Given the description of an element on the screen output the (x, y) to click on. 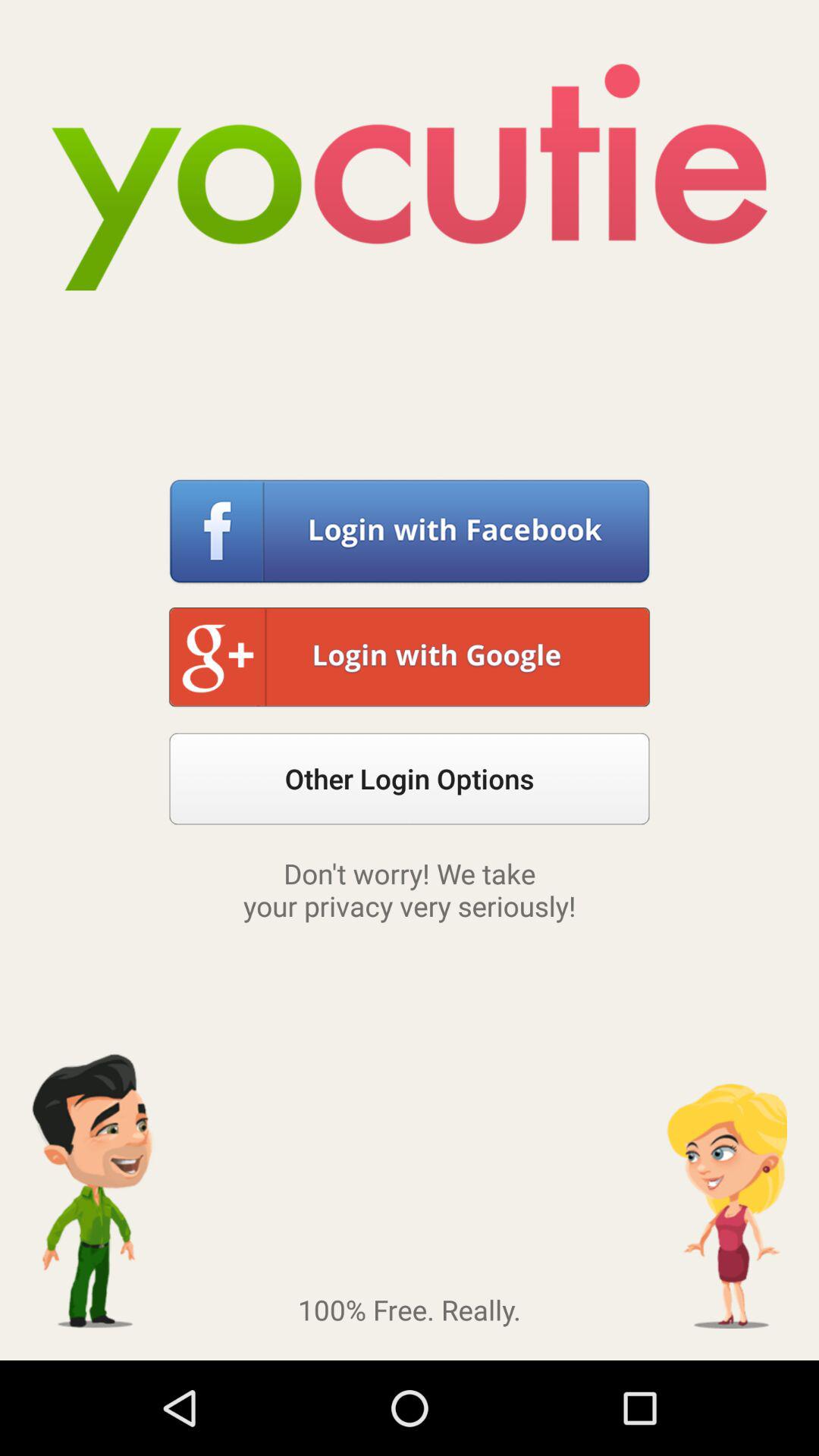
scroll until other login options button (409, 778)
